Given the description of an element on the screen output the (x, y) to click on. 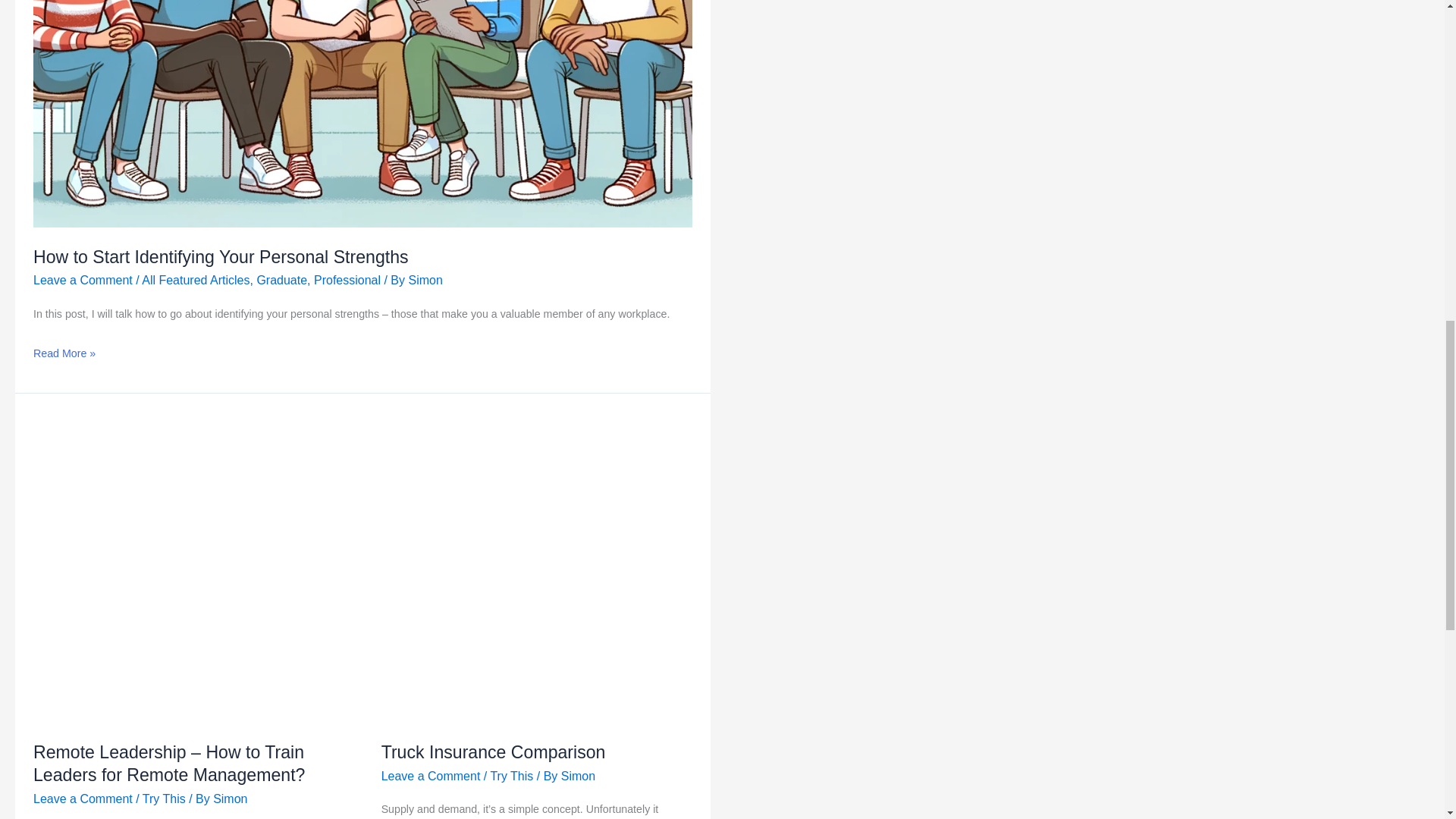
View all posts by Simon (577, 775)
All Featured Articles (194, 279)
Simon (424, 279)
View all posts by Simon (229, 798)
Try This (164, 798)
Leave a Comment (82, 798)
Graduate (281, 279)
Professional (347, 279)
View all posts by Simon (424, 279)
How to Start Identifying Your Personal Strengths (221, 256)
Simon (229, 798)
Leave a Comment (82, 279)
